Given the description of an element on the screen output the (x, y) to click on. 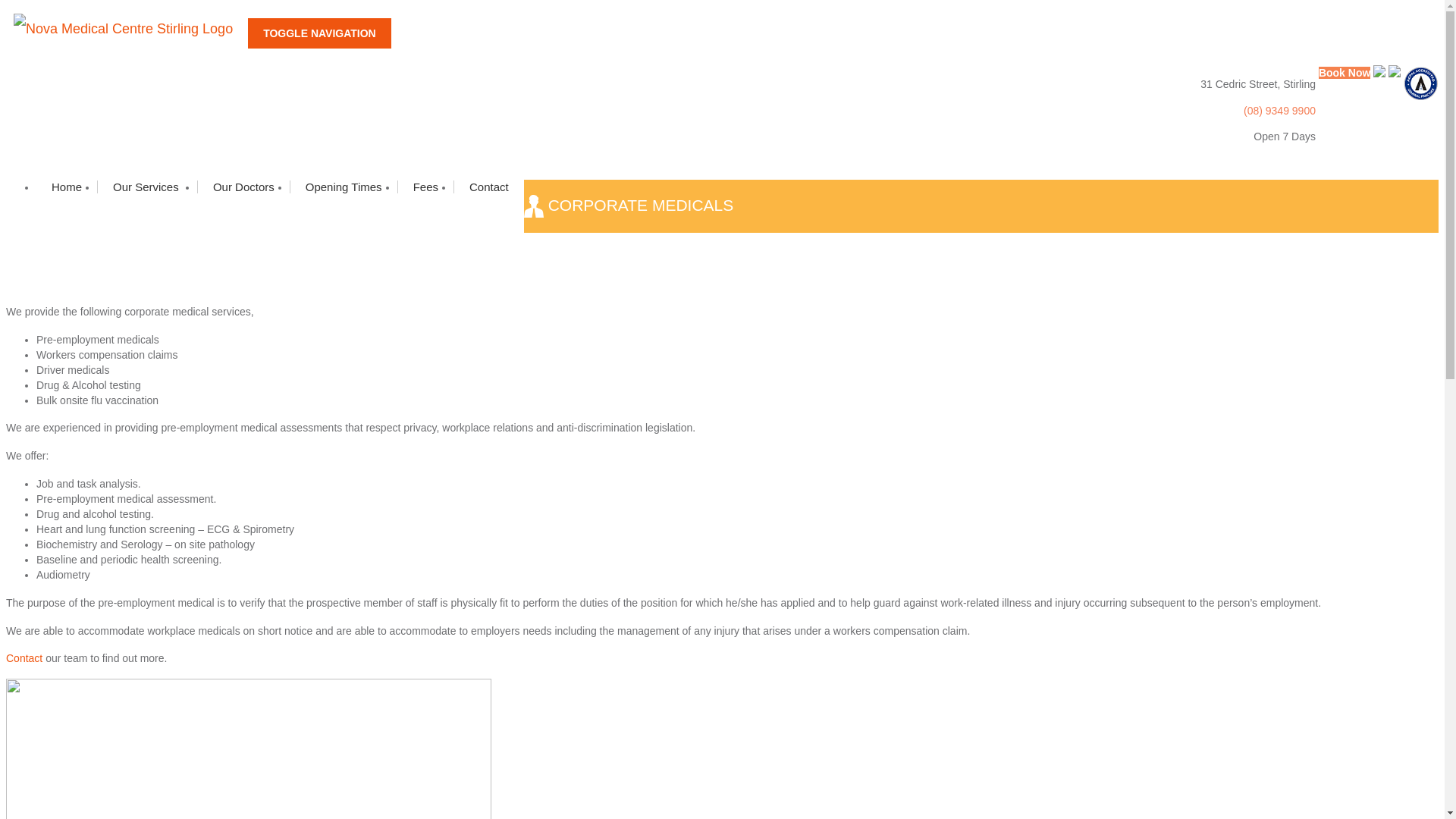
Opening Times Element type: text (343, 186)
Home Element type: text (66, 186)
Nova Medical Centre Stirling Element type: hover (126, 28)
Contact Element type: text (488, 186)
Book Now Element type: text (1344, 72)
TOGGLE NAVIGATION Element type: text (319, 33)
Our Doctors Element type: text (243, 186)
Contact Element type: text (24, 658)
Our Services Element type: text (147, 186)
Fees Element type: text (425, 186)
